Given the description of an element on the screen output the (x, y) to click on. 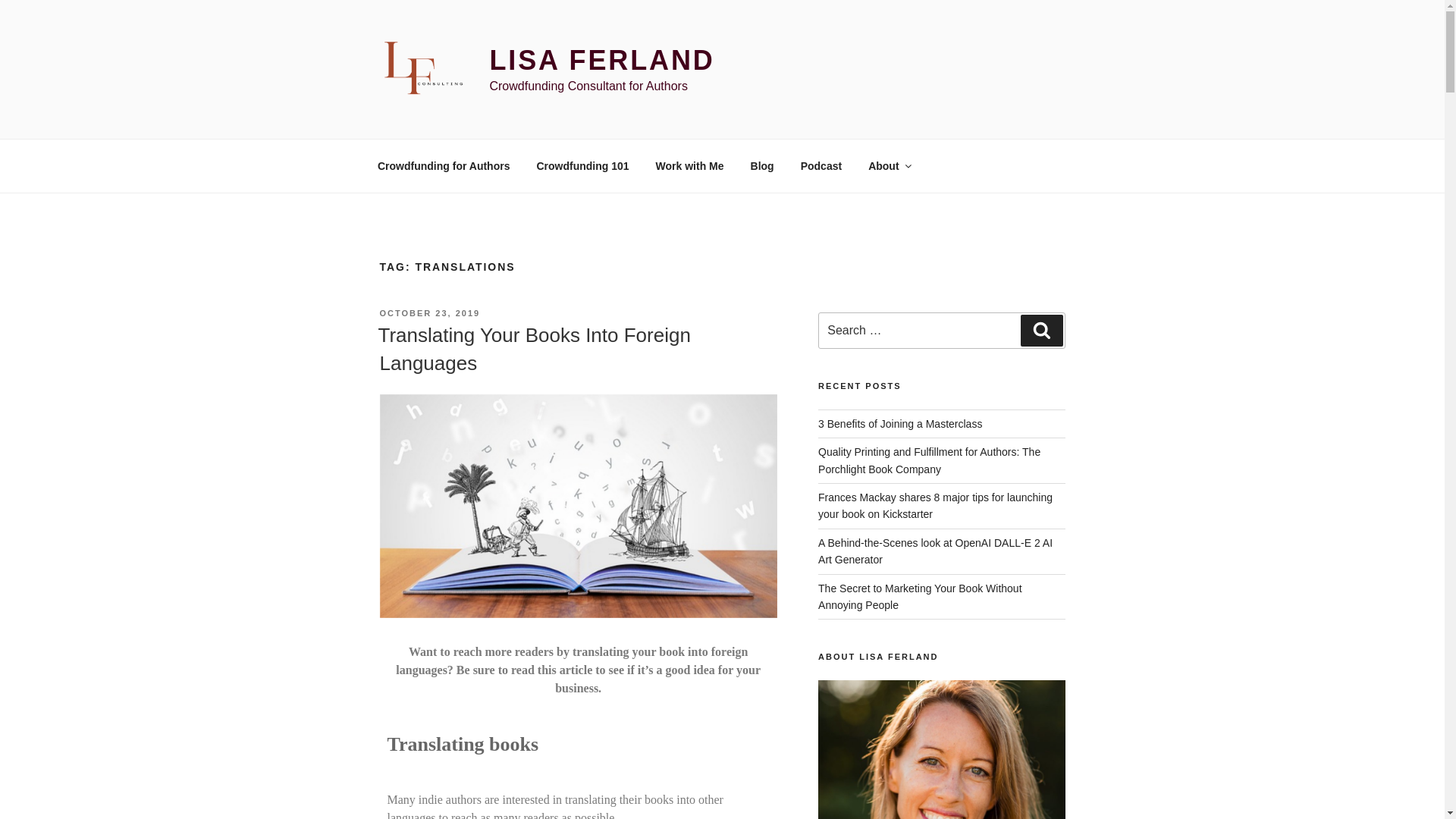
A Behind-the-Scenes look at OpenAI DALL-E 2 AI Art Generator (935, 551)
Podcast (820, 165)
3 Benefits of Joining a Masterclass (899, 423)
Crowdfunding 101 (582, 165)
Translating Your Books Into Foreign Languages (533, 348)
LISA FERLAND (601, 60)
About (889, 165)
OCTOBER 23, 2019 (429, 312)
The Secret to Marketing Your Book Without Annoying People (920, 596)
